Given the description of an element on the screen output the (x, y) to click on. 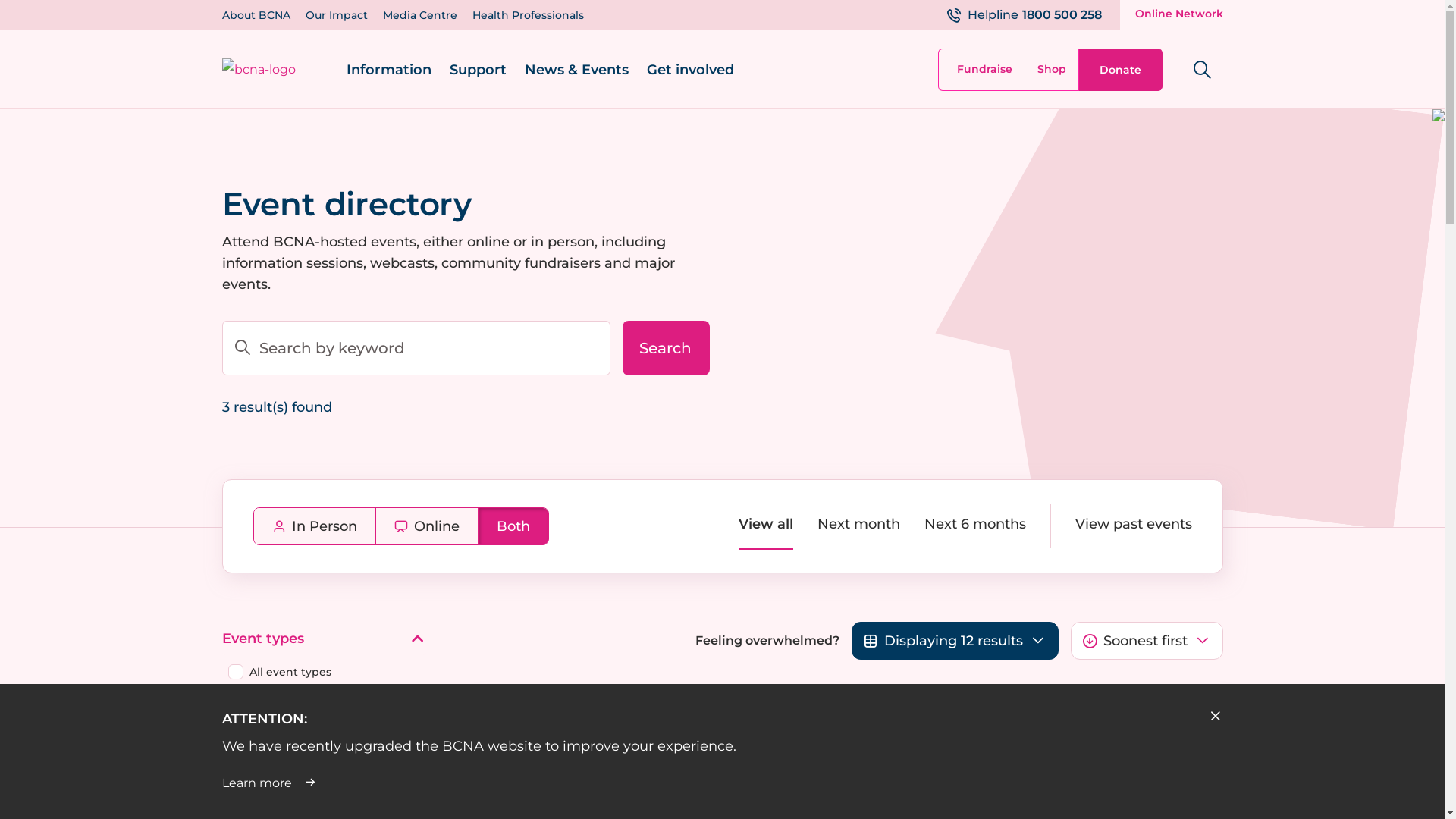
Displaying 12 results Element type: text (953, 640)
Get involved Element type: text (689, 69)
Search Element type: text (665, 347)
Support Element type: text (476, 69)
Shop Element type: text (1050, 69)
Our Impact Element type: text (335, 15)
Online Network Element type: text (1170, 15)
Soonest first Element type: text (1146, 640)
Fundraise Element type: text (980, 69)
Helpline 1800 500 258 Element type: text (1023, 14)
Media Centre Element type: text (419, 15)
About BCNA Element type: text (255, 15)
Information Element type: text (387, 69)
Health Professionals Element type: text (527, 15)
Donate Element type: text (1119, 69)
Event types Element type: text (323, 638)
News & Events Element type: text (576, 69)
Learn more Element type: text (478, 782)
